Given the description of an element on the screen output the (x, y) to click on. 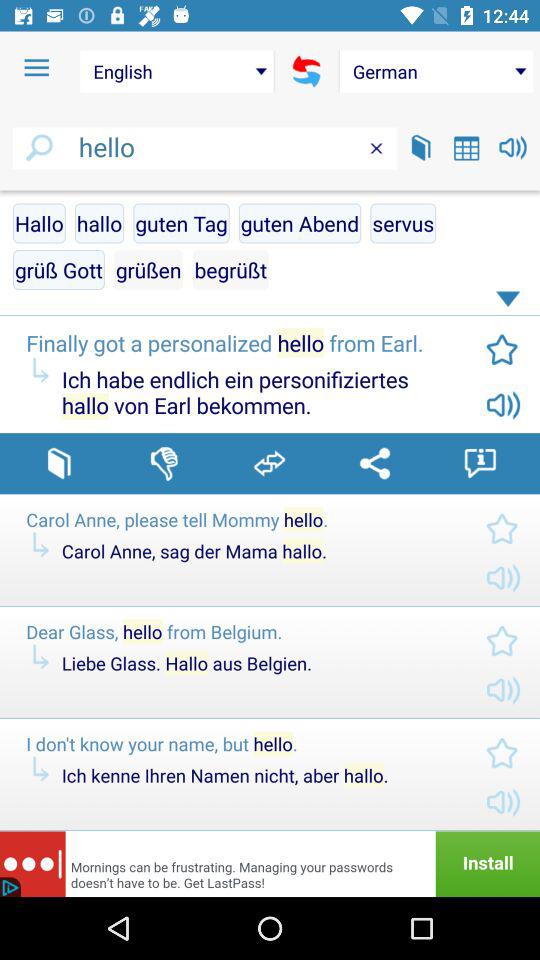
turn on item next to the servus icon (299, 223)
